Given the description of an element on the screen output the (x, y) to click on. 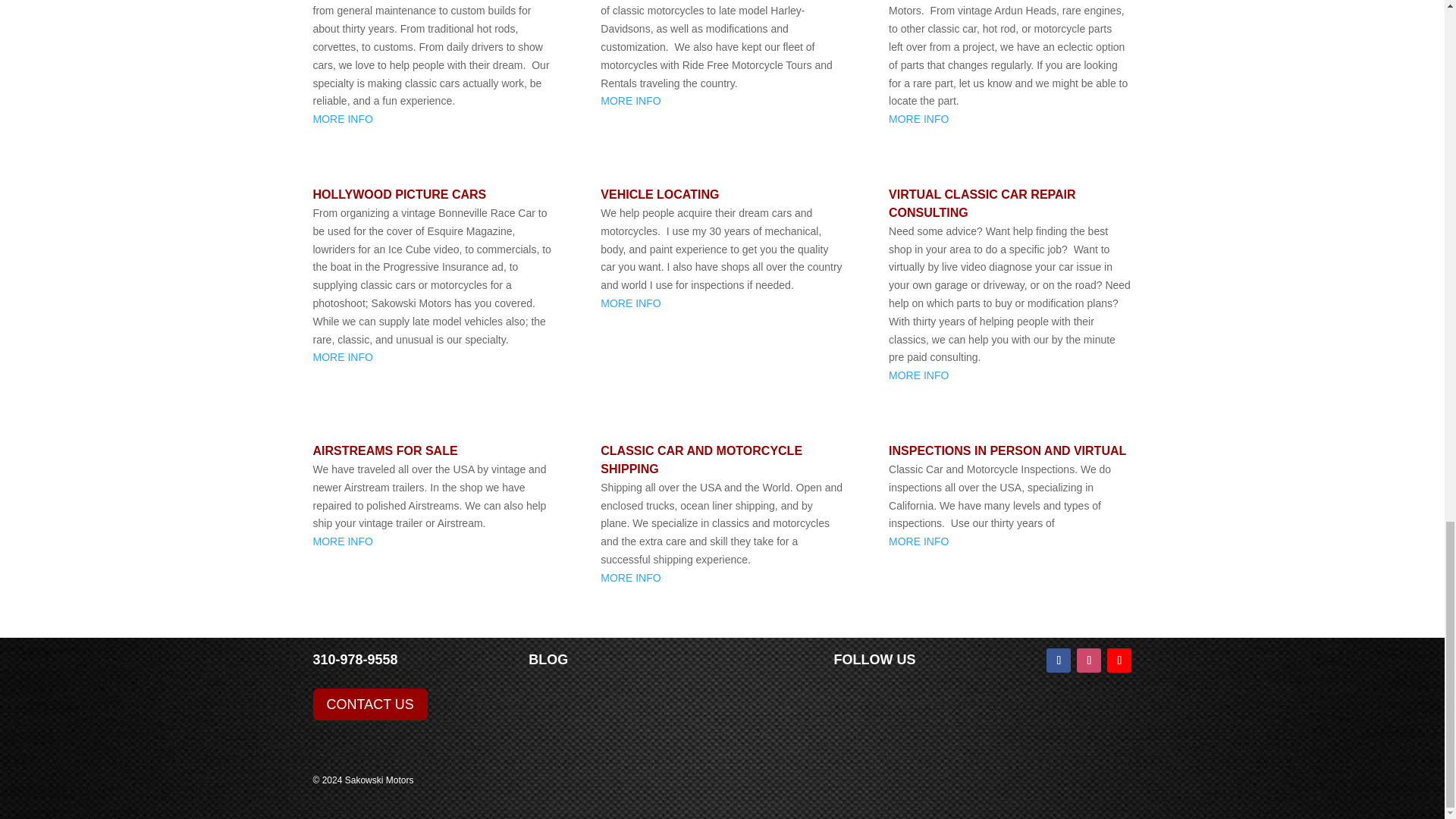
Follow on Facebook (1058, 660)
Follow on Instagram (1088, 660)
Follow on Youtube (1118, 660)
